Given the description of an element on the screen output the (x, y) to click on. 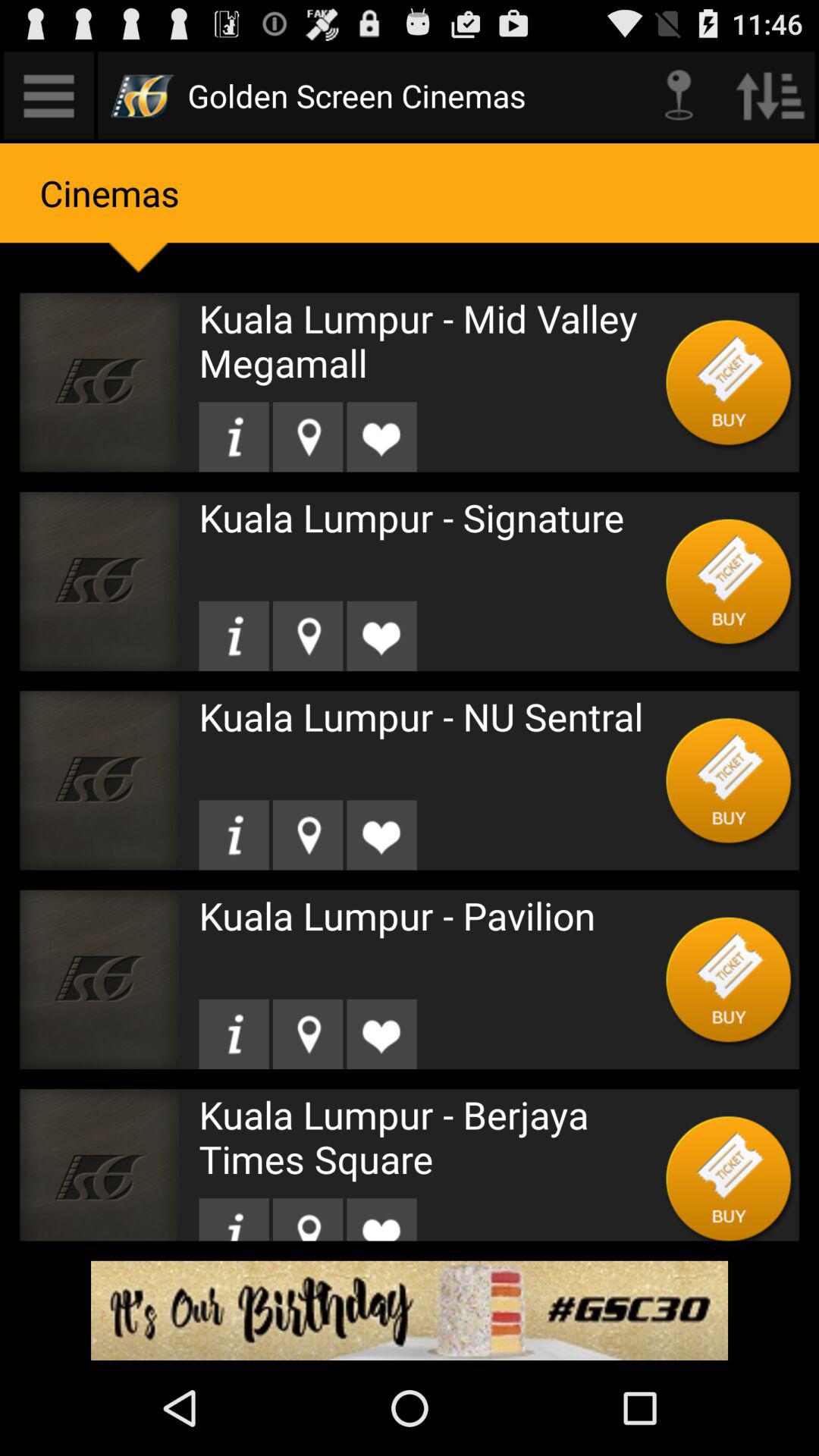
see location (307, 835)
